Given the description of an element on the screen output the (x, y) to click on. 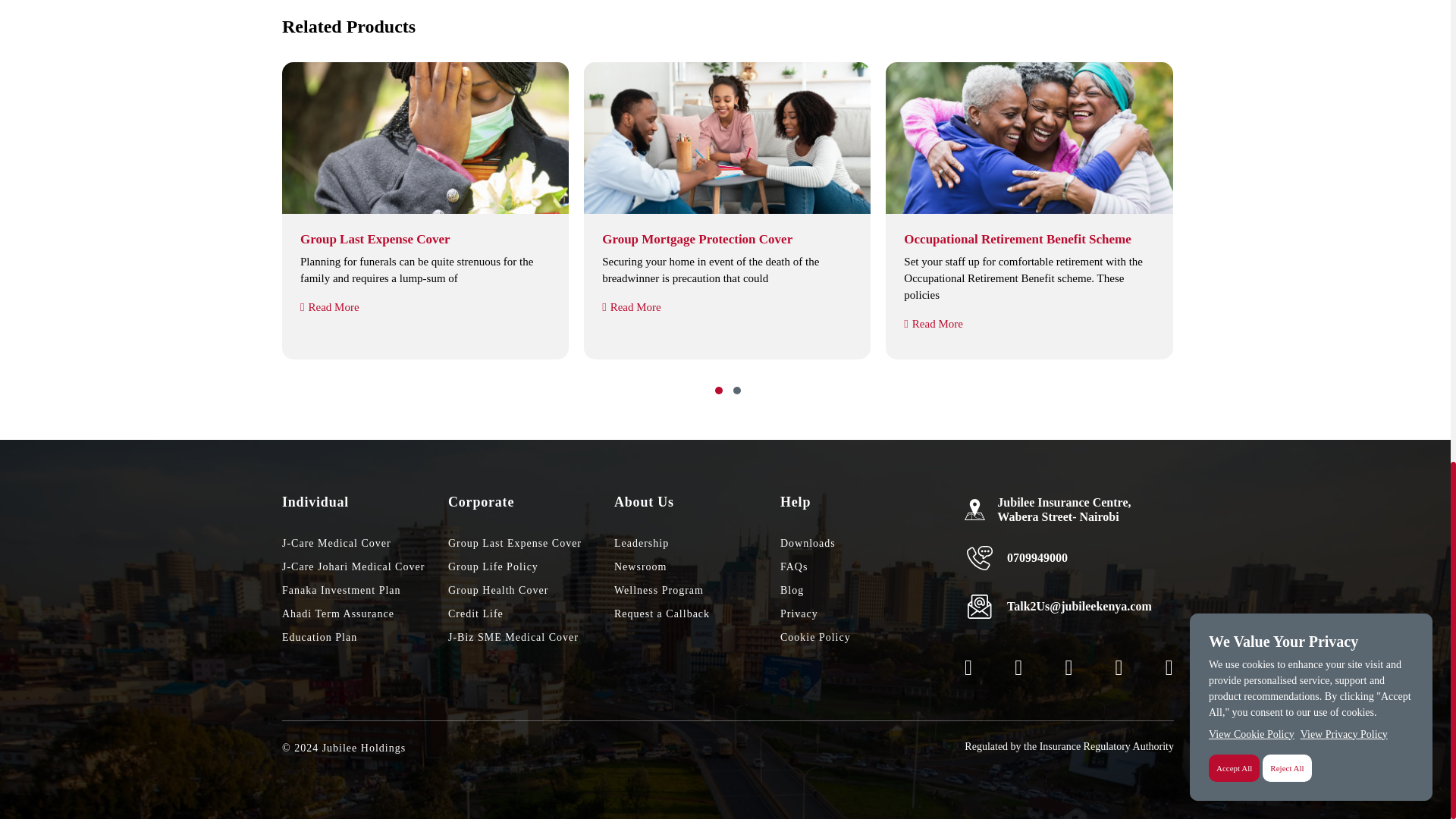
Education Plan (365, 637)
Newsroom (697, 566)
Blog (863, 590)
J-Care Medical Cover (365, 543)
FAQs (863, 566)
Group Last Expense Cover (531, 543)
Group Life Policy (531, 566)
Downloads (863, 543)
Request a Callback (697, 613)
Fanaka Investment Plan (365, 590)
Group Health Cover (531, 590)
Leadership (697, 543)
Credit Life (531, 613)
Ahadi Term Assurance (365, 613)
J-Biz SME Medical Cover (531, 637)
